Given the description of an element on the screen output the (x, y) to click on. 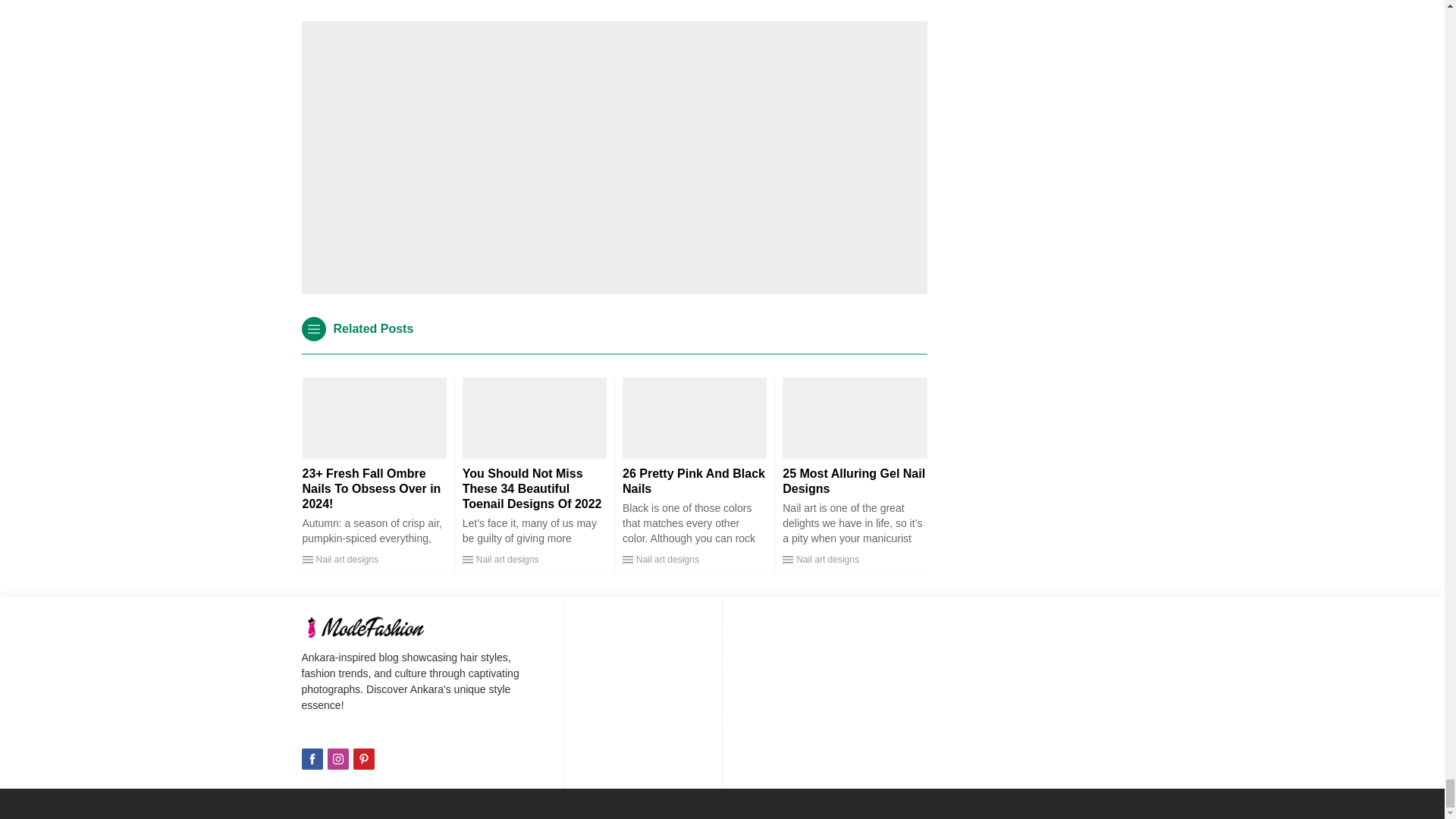
Nail art designs (507, 559)
Nail art designs (667, 559)
Instagram (338, 758)
26 Pretty Pink And Black Nails (694, 480)
Facebook (312, 758)
Nail art designs (346, 559)
Fashion Lifestyle Trends (381, 626)
Pinterest (363, 758)
